Given the description of an element on the screen output the (x, y) to click on. 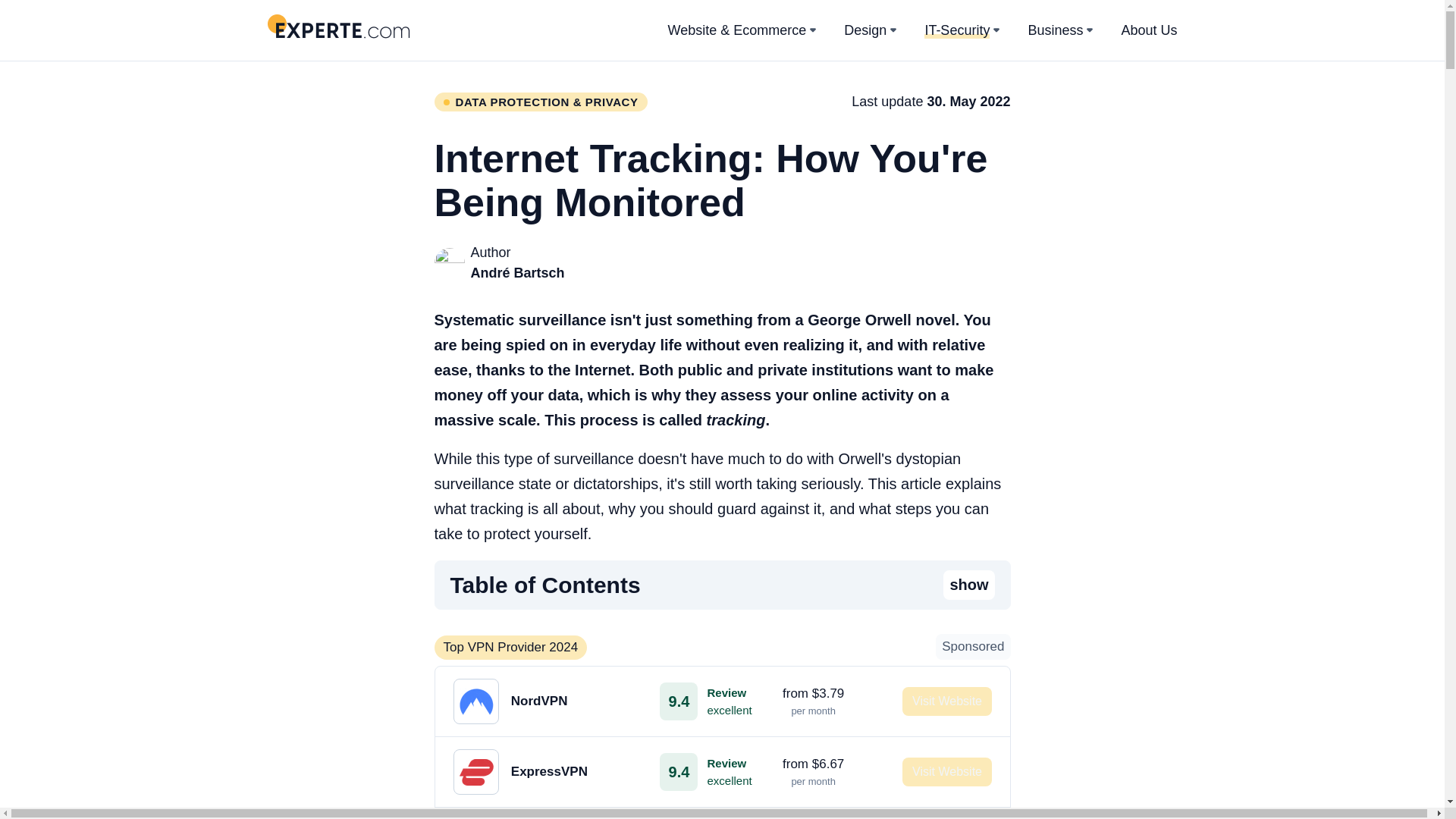
About Us (1148, 29)
Business (1055, 29)
IT-Security (957, 30)
Visit Website (946, 701)
Design (705, 701)
